Given the description of an element on the screen output the (x, y) to click on. 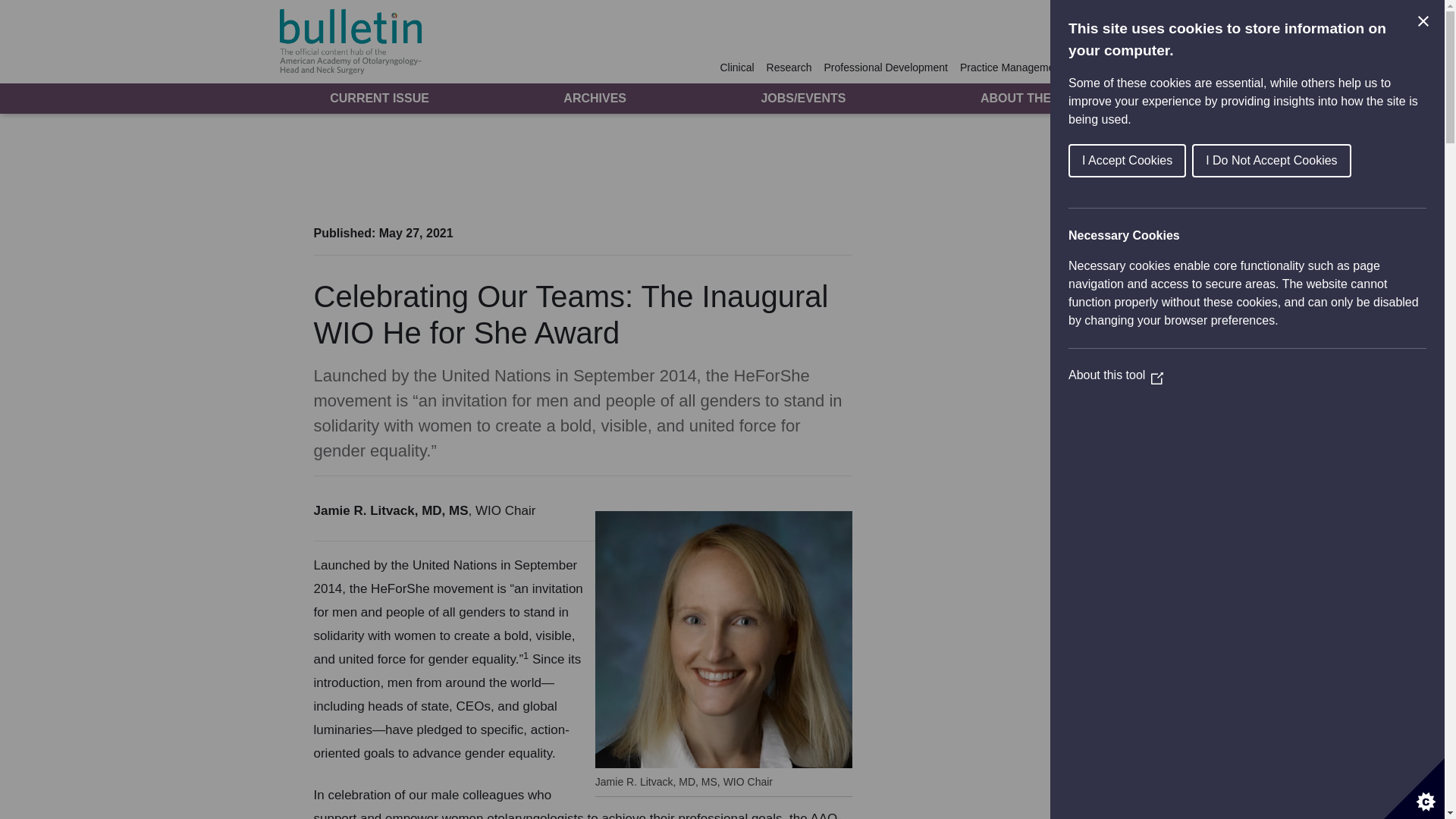
I Accept Cookies (1325, 160)
ABOUT THE BULLETIN (1046, 98)
3rd party ad content (1000, 319)
Search (1139, 67)
3rd party ad content (721, 165)
CURRENT ISSUE (378, 98)
ARCHIVES (595, 98)
Practice Management (1010, 67)
Research (789, 67)
Professional Development (885, 67)
